Given the description of an element on the screen output the (x, y) to click on. 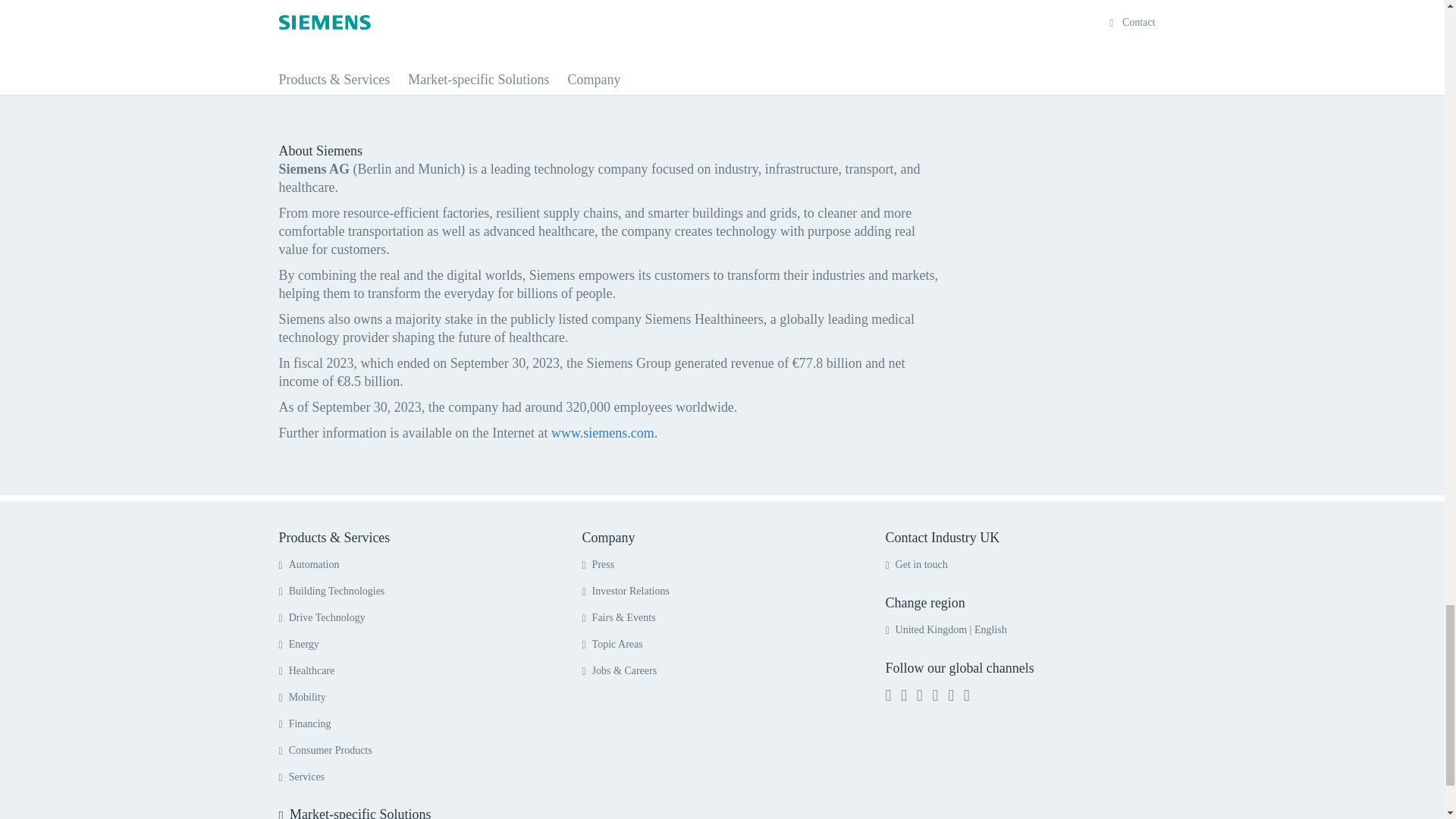
Consumer Products (325, 750)
Energy (298, 644)
Mobility (302, 697)
www.siemens.com (602, 432)
Automation (309, 564)
Energy (298, 644)
Financing (305, 724)
Services (301, 776)
Healthcare (306, 670)
Drive Technology (322, 617)
Building Technologies (332, 590)
Drive Technology (322, 617)
Healthcare (306, 670)
Building Technologies (332, 590)
Automation (309, 564)
